Given the description of an element on the screen output the (x, y) to click on. 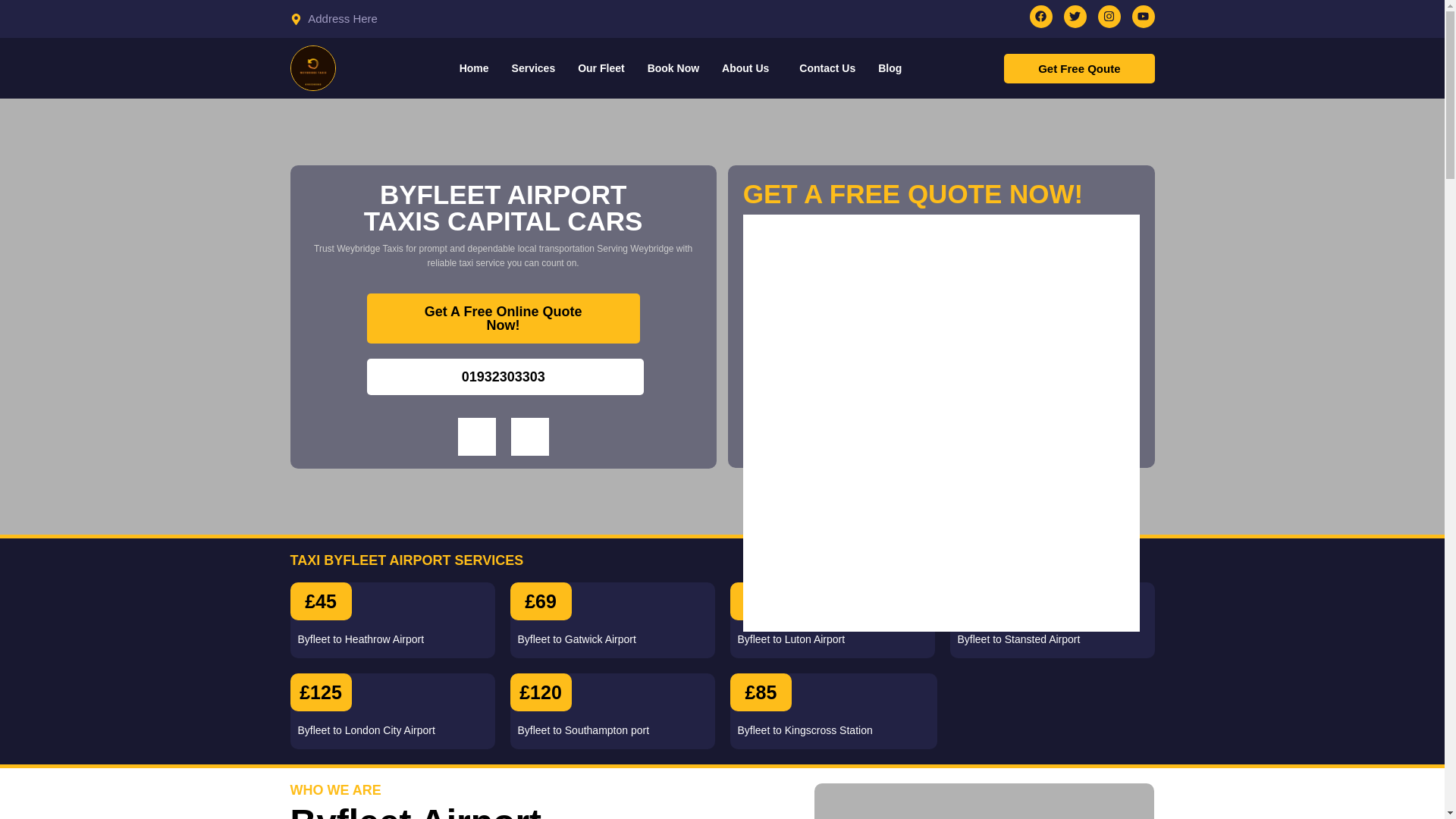
Our Fleet (600, 68)
Blog (889, 68)
Get A Free Online Quote Now! (503, 317)
Home (474, 68)
About Us (748, 68)
Book Now (673, 68)
Services (533, 68)
Get Free Qoute (1079, 67)
01932303303 (504, 375)
